Given the description of an element on the screen output the (x, y) to click on. 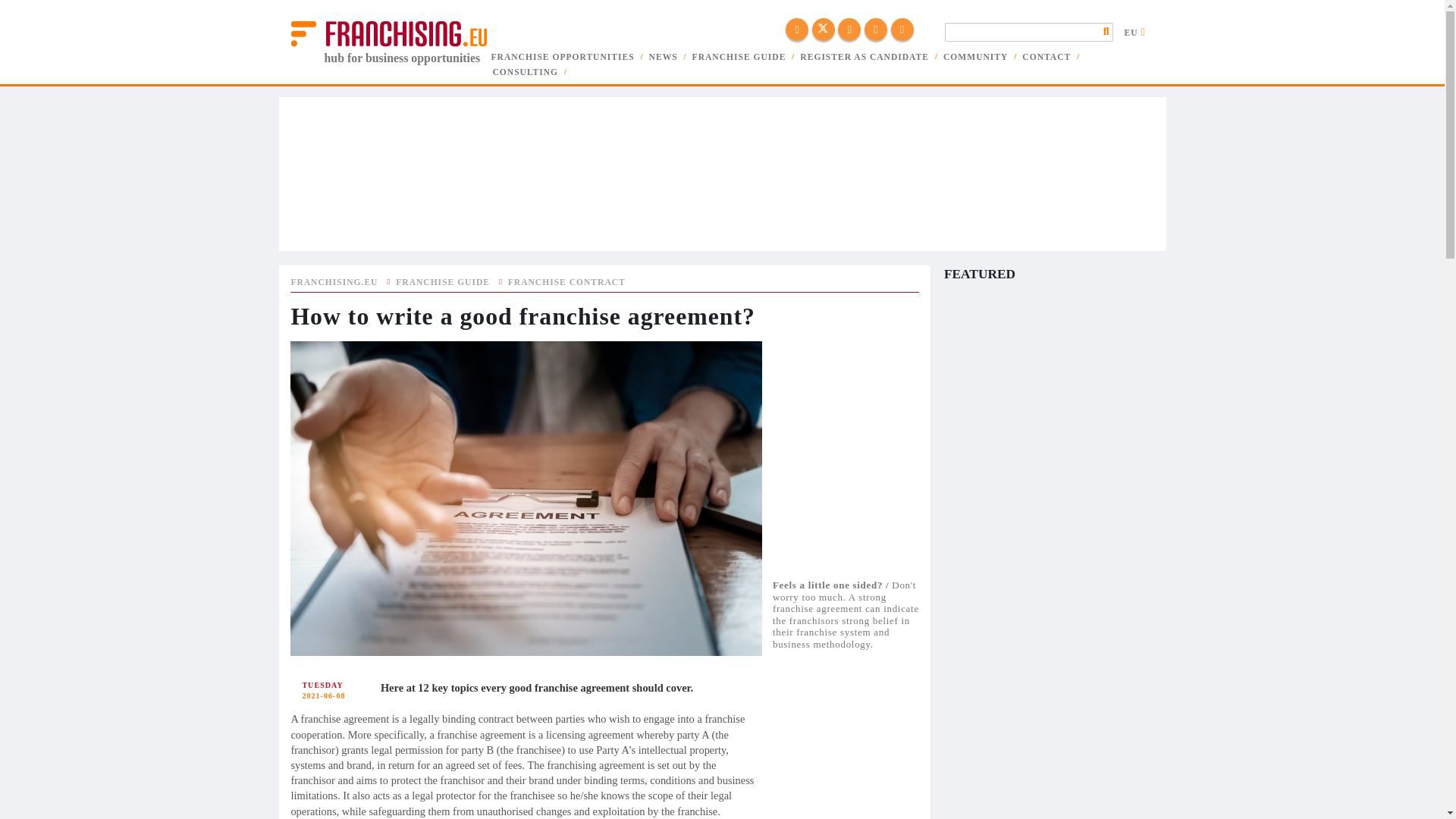
EU (1137, 32)
googlenews (900, 29)
instagram (875, 29)
facebook (797, 29)
linkedin (849, 29)
twitter (823, 29)
